Given the description of an element on the screen output the (x, y) to click on. 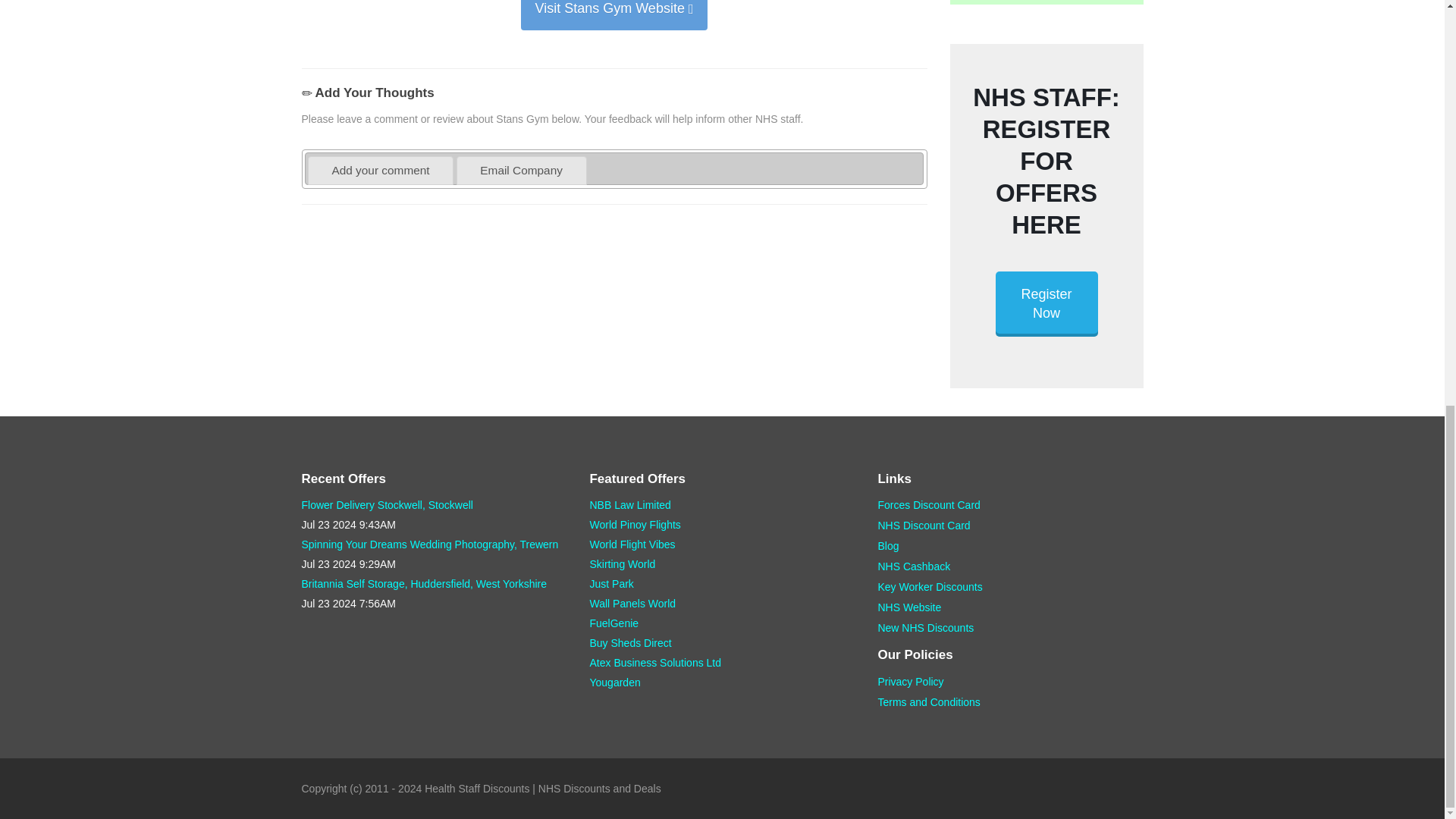
Email Company (521, 170)
Visit Stans Gym Website (613, 15)
Register Now (1045, 303)
Add your comment (380, 170)
